Given the description of an element on the screen output the (x, y) to click on. 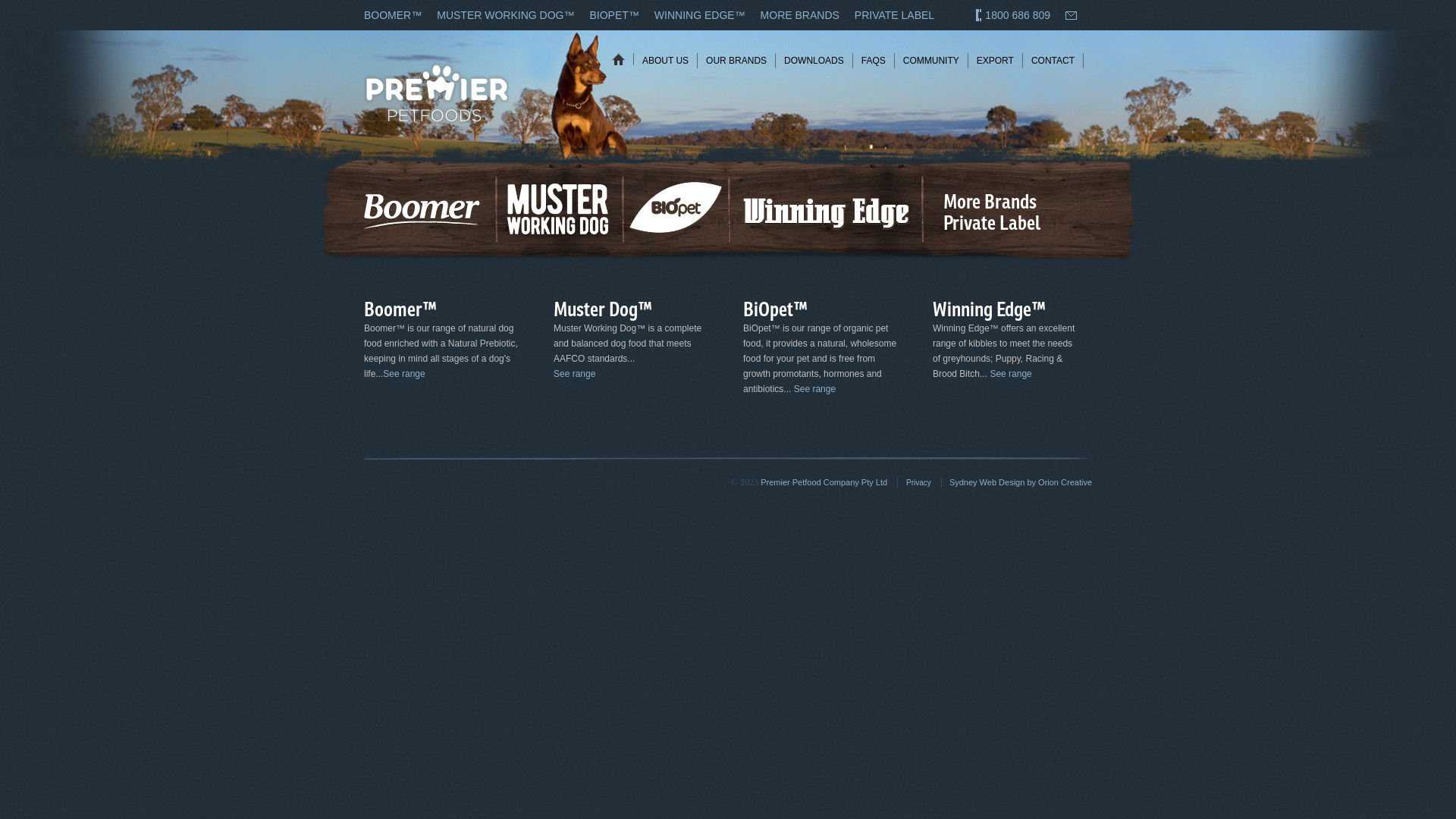
1800 686 809 Element type: text (1025, 15)
Boomer Element type: text (421, 212)
Biopet Element type: text (686, 207)
FAQS Element type: text (877, 60)
PRIVATE LABEL Element type: text (901, 15)
See range Element type: text (1010, 373)
Orion Creative Element type: text (1065, 481)
MORE BRANDS Element type: text (807, 15)
See range Element type: text (403, 373)
Private Label Element type: text (992, 222)
Muster Dog Element type: text (557, 208)
ABOUT US Element type: text (669, 60)
Winning Edge Element type: text (825, 213)
More Brands Element type: text (989, 200)
Privacy Element type: text (914, 481)
Premier Petfood Company Pty Ltd Element type: text (823, 481)
HOME Element type: text (622, 59)
See range Element type: text (814, 388)
CONTACT Element type: text (1057, 60)
COMMUNITY Element type: text (935, 60)
DOWNLOADS Element type: text (818, 60)
OUR BRANDS Element type: text (740, 60)
EXPORT Element type: text (999, 60)
See range Element type: text (574, 373)
